Given the description of an element on the screen output the (x, y) to click on. 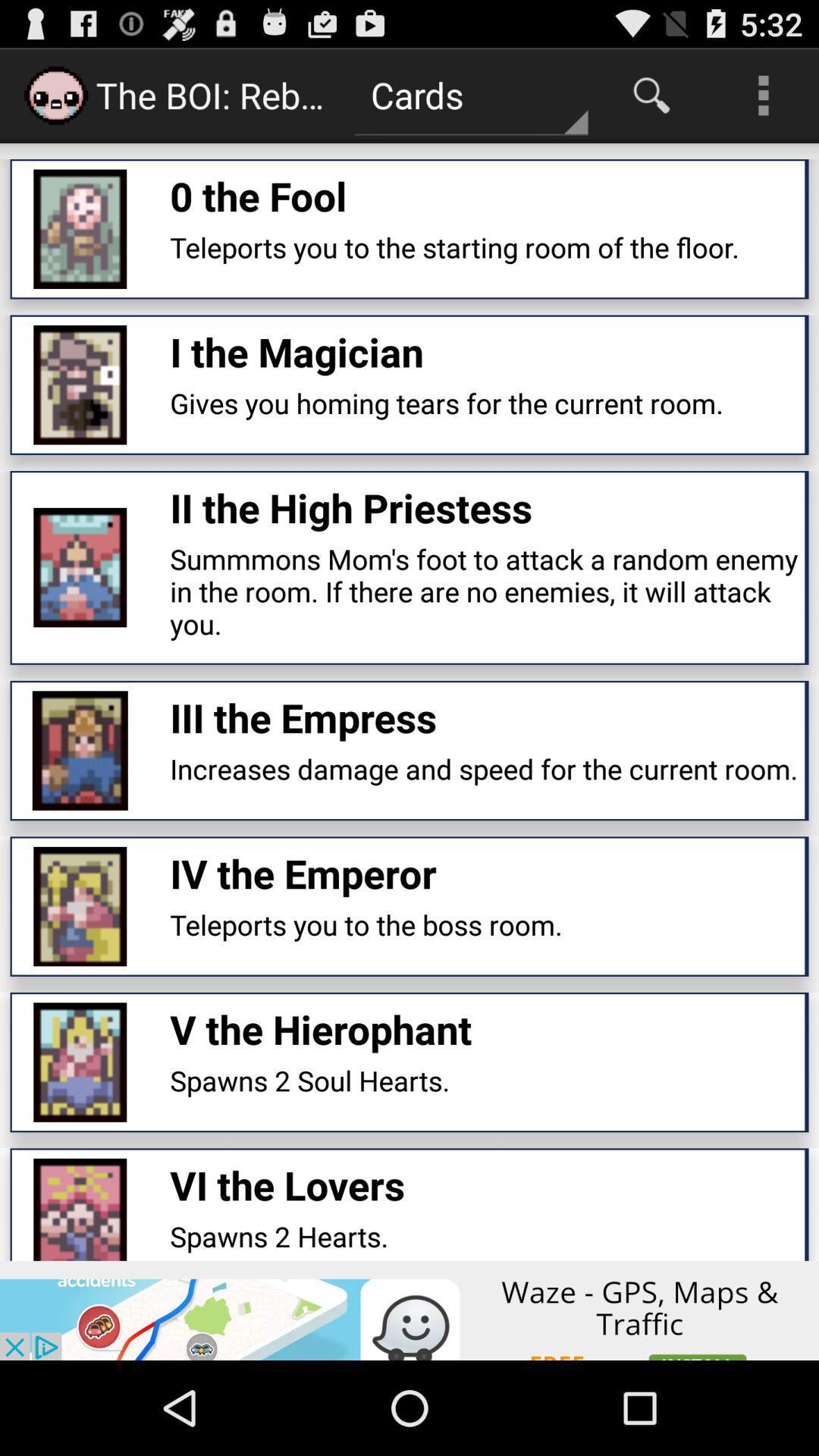
click the advertisement (409, 1310)
